Given the description of an element on the screen output the (x, y) to click on. 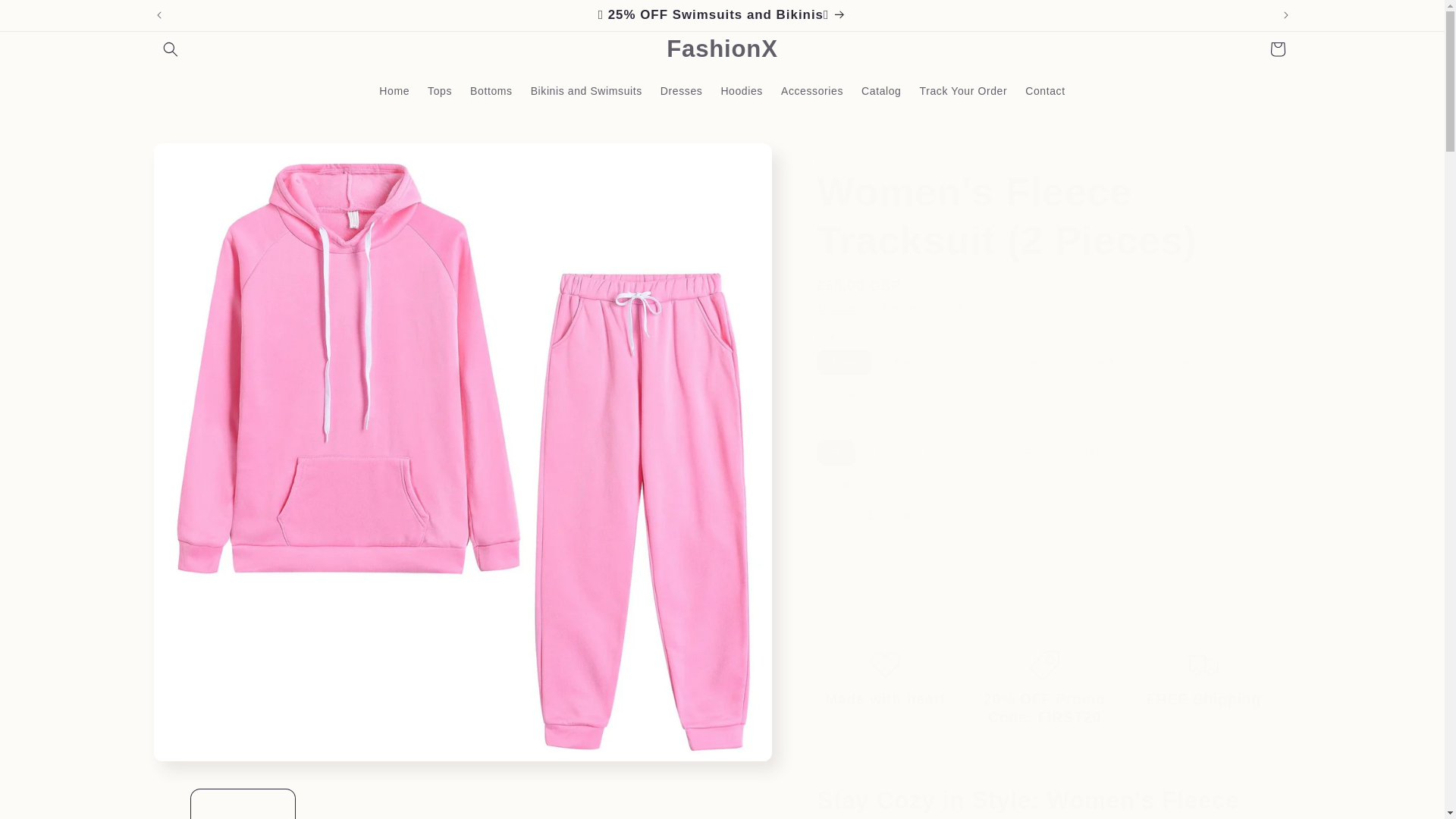
Cart (1277, 49)
Hoodies (741, 90)
Dresses (680, 90)
Contact (1045, 90)
Bikinis and Swimsuits (585, 90)
1 (870, 515)
